Given the description of an element on the screen output the (x, y) to click on. 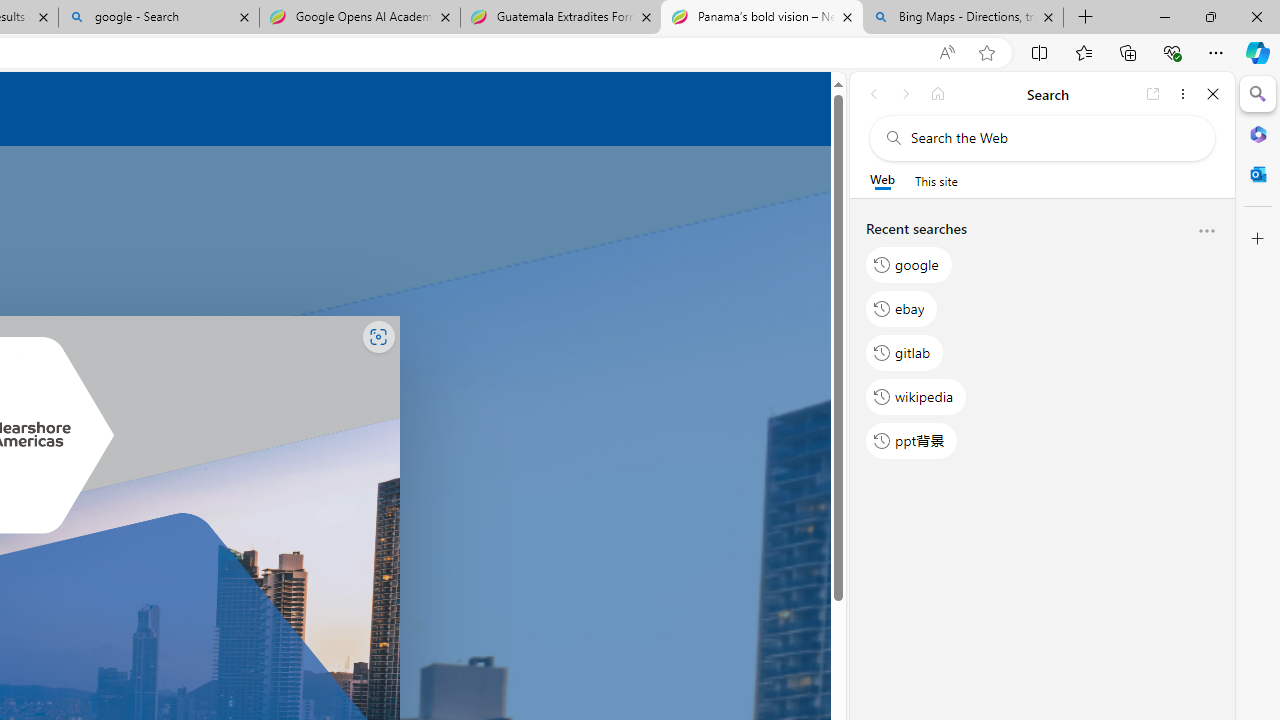
ebay (902, 308)
